Given the description of an element on the screen output the (x, y) to click on. 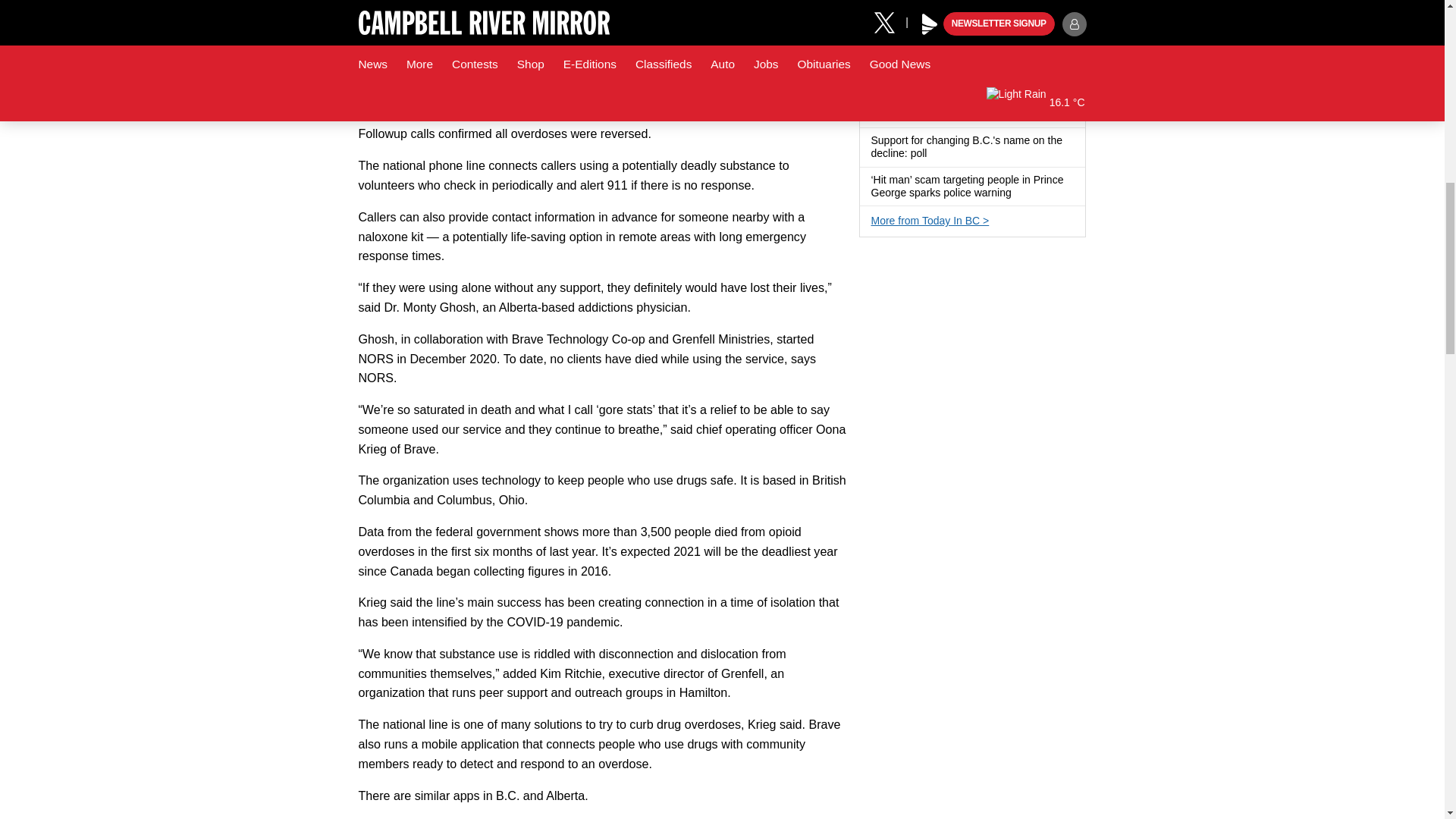
Has a gallery (984, 36)
